Given the description of an element on the screen output the (x, y) to click on. 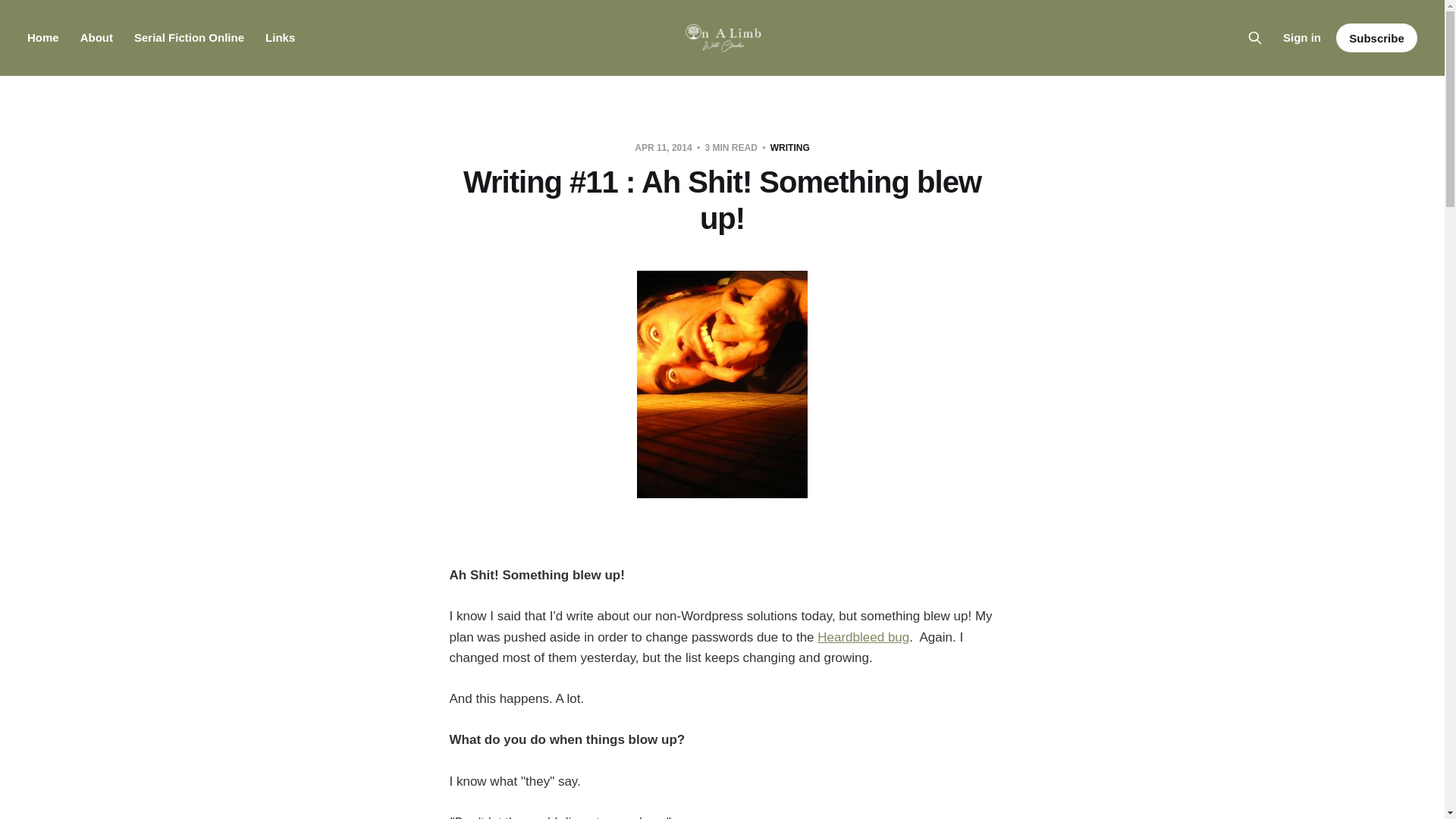
Subscribe (1376, 37)
Serial Fiction Online (188, 37)
Home (43, 37)
About (96, 37)
Links (279, 37)
Sign in (1301, 37)
WRITING (789, 147)
Heardbleed bug (862, 636)
